Given the description of an element on the screen output the (x, y) to click on. 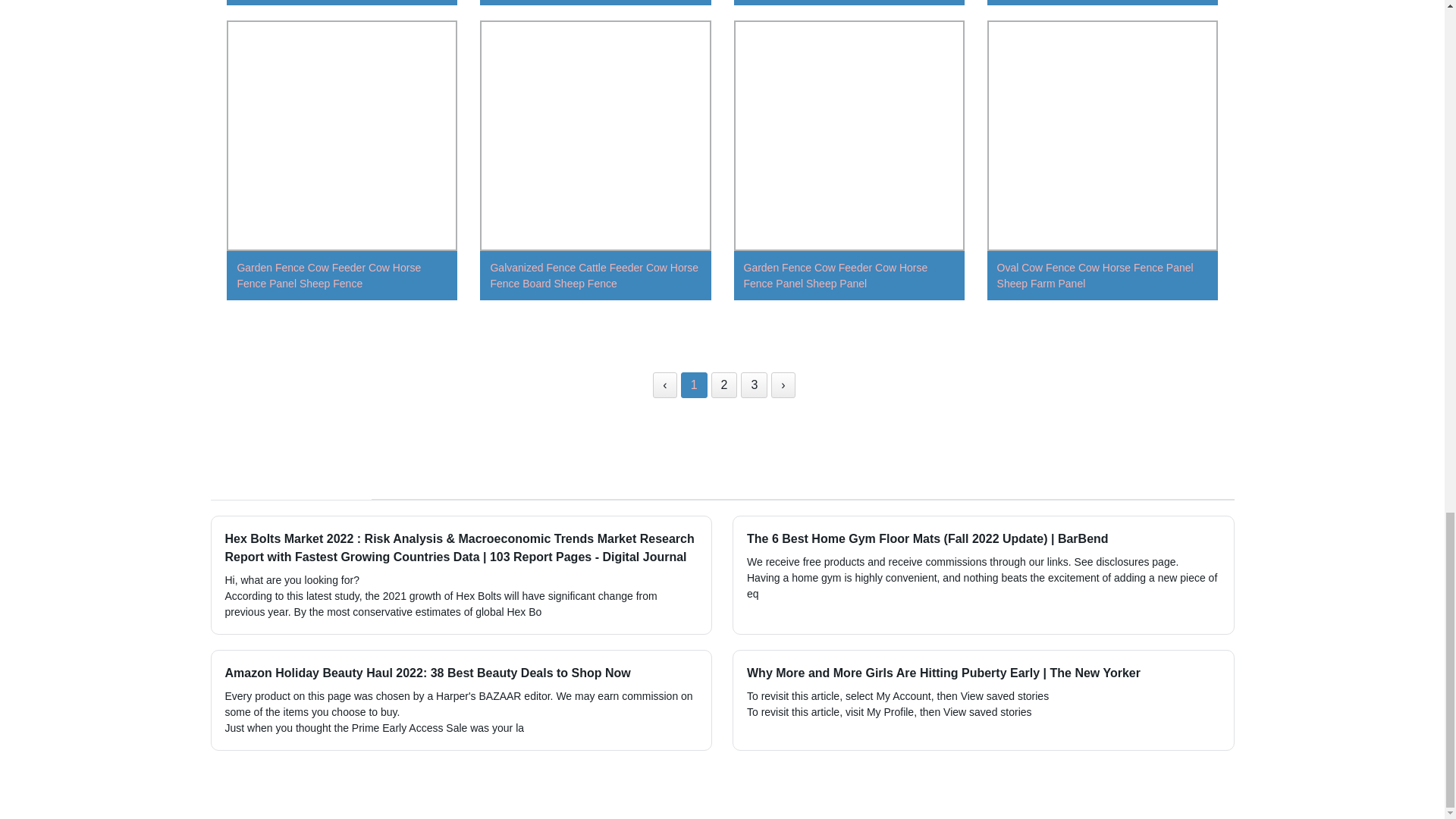
Cow Feeder Cow Horse Sheep Farm Fence Panel (595, 6)
